Given the description of an element on the screen output the (x, y) to click on. 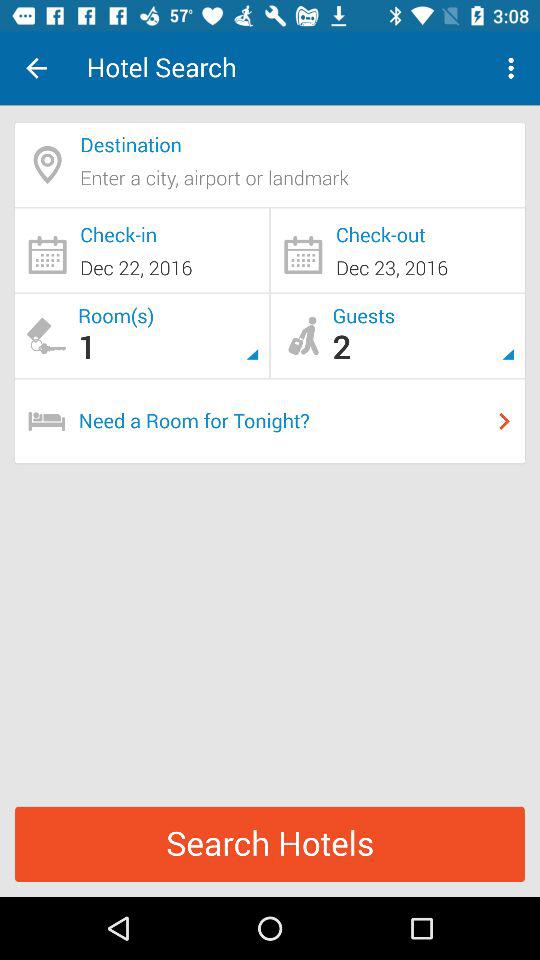
turn on item next to hotel search (36, 68)
